Given the description of an element on the screen output the (x, y) to click on. 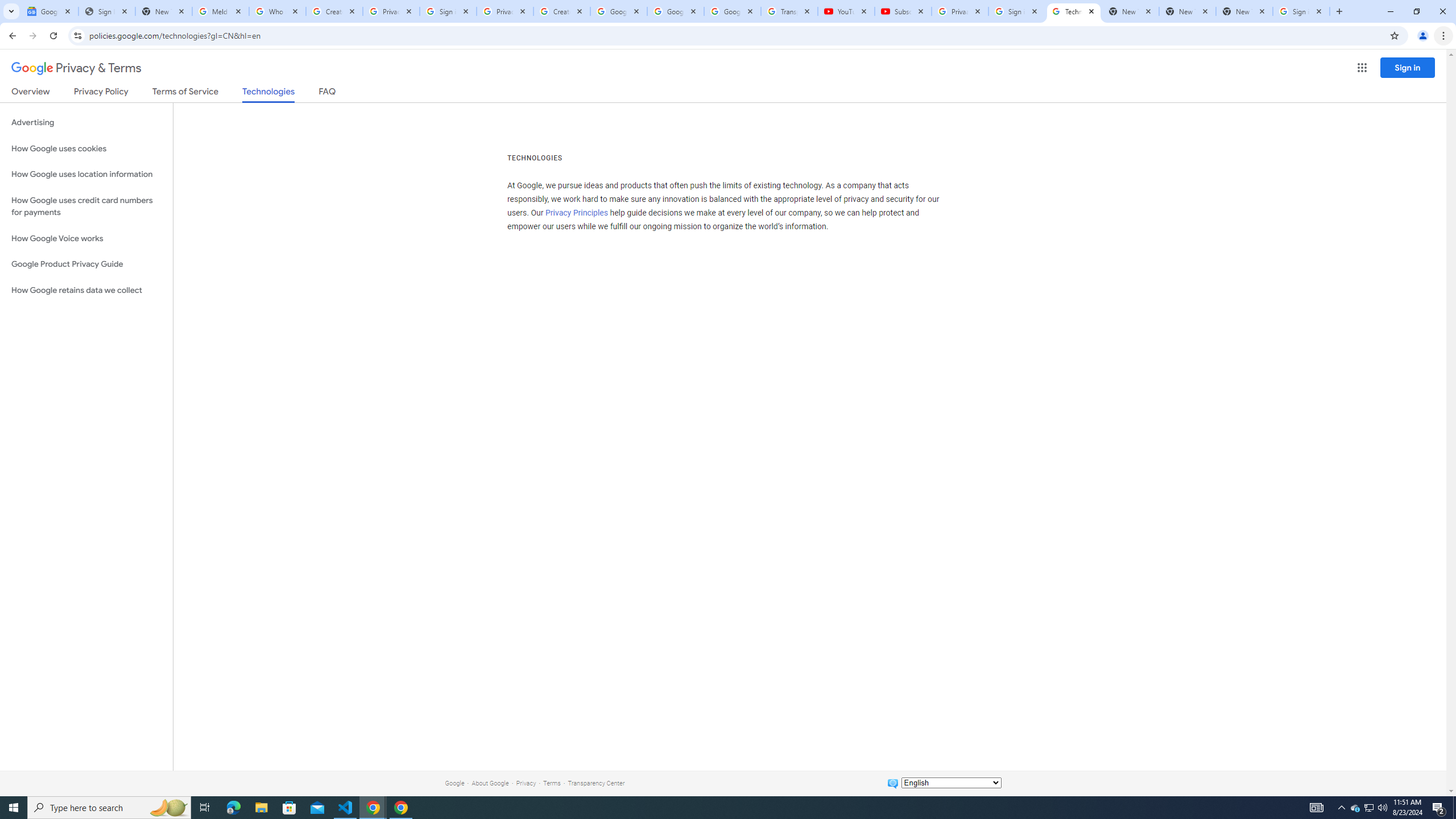
How Google uses credit card numbers for payments (86, 206)
YouTube (845, 11)
Privacy Principles (577, 213)
Create your Google Account (561, 11)
Sign In - USA TODAY (105, 11)
Sign in - Google Accounts (1015, 11)
How Google uses cookies (86, 148)
